Given the description of an element on the screen output the (x, y) to click on. 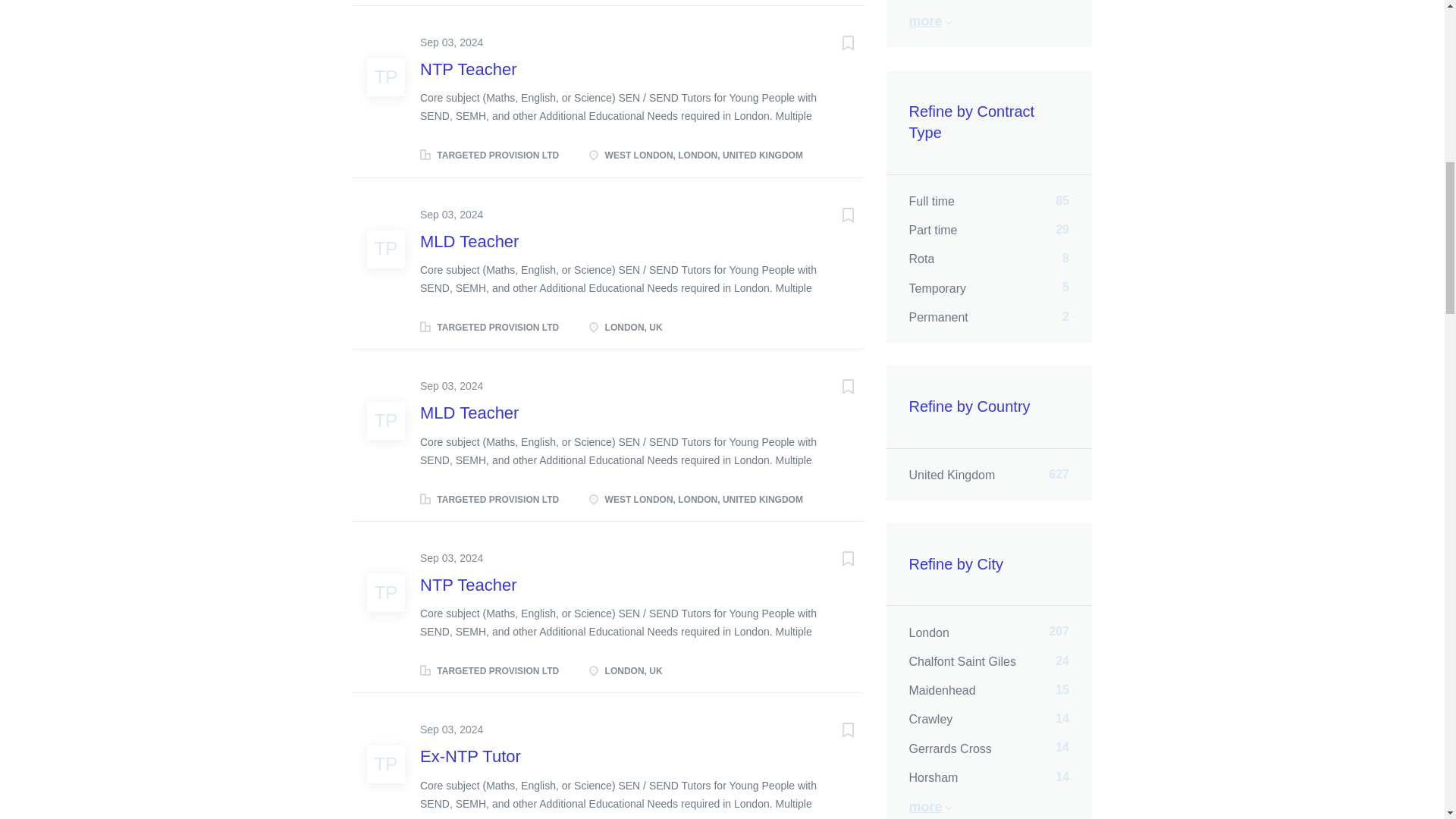
Targeted Provision Ltd (385, 592)
Targeted Provision Ltd (385, 420)
Targeted Provision Ltd (385, 249)
Targeted Provision Ltd (385, 763)
Targeted Provision Ltd (385, 77)
